Given the description of an element on the screen output the (x, y) to click on. 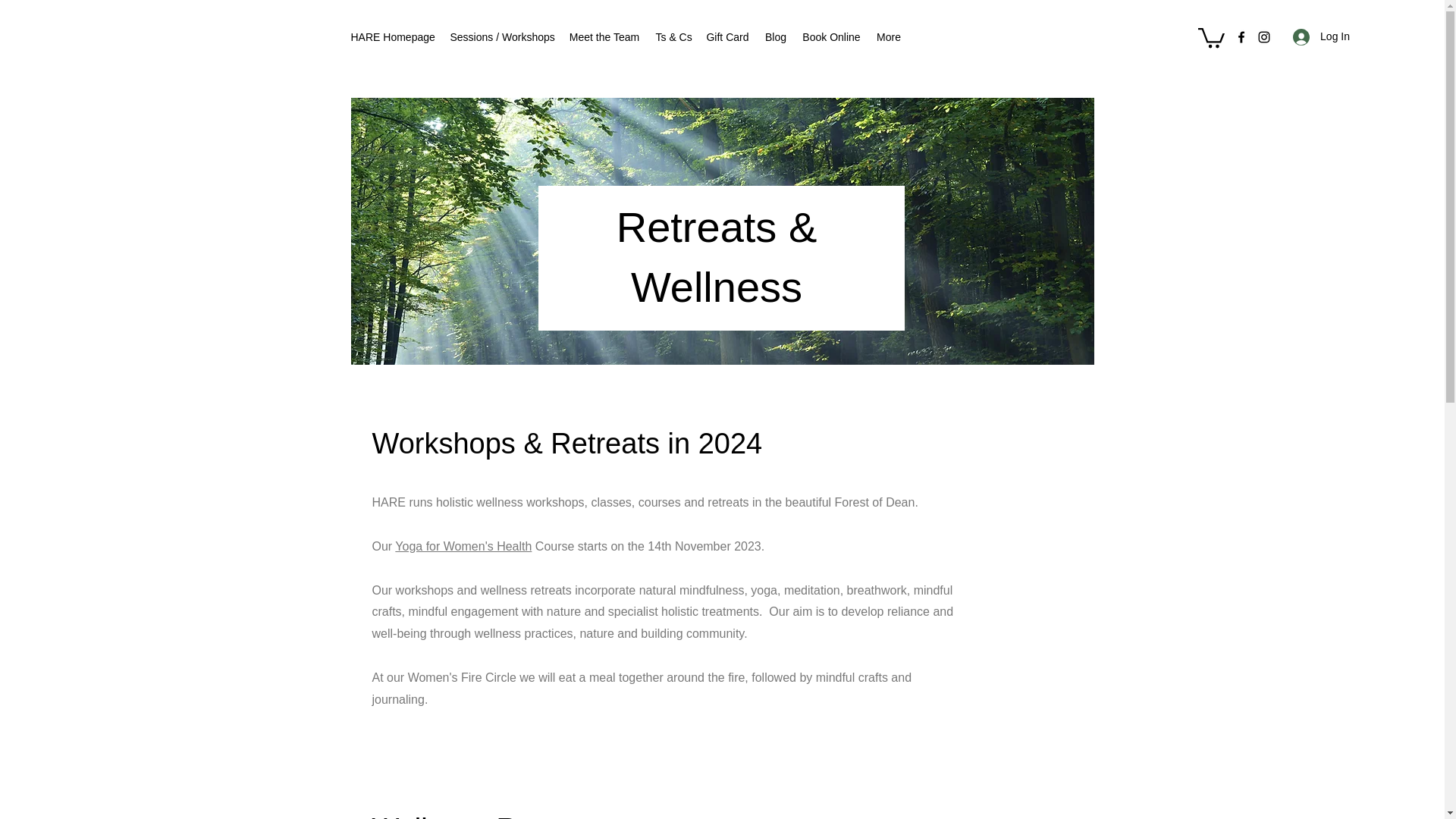
Yoga for Women's Health (462, 545)
Book Online (831, 36)
Log In (1320, 36)
Meet the Team (603, 36)
HARE Homepage (392, 36)
Blog (775, 36)
Gift Card (727, 36)
